Given the description of an element on the screen output the (x, y) to click on. 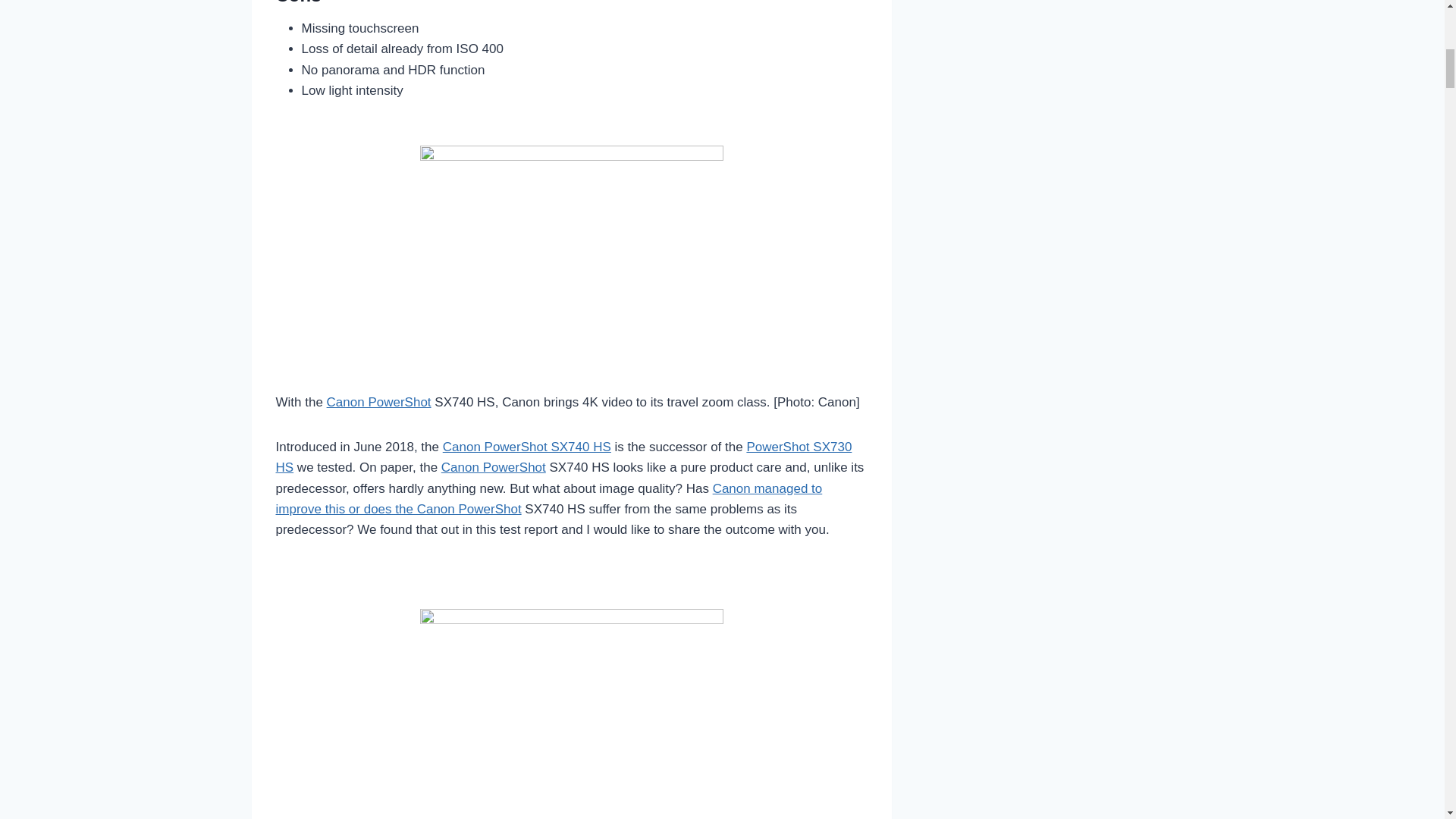
Canon managed to improve this or does the Canon PowerShot (549, 498)
PowerShot SX730 HS (563, 457)
Canon PowerShot (378, 401)
Canon PowerShot SX740 HS (526, 446)
Canon PowerShot (493, 467)
